Given the description of an element on the screen output the (x, y) to click on. 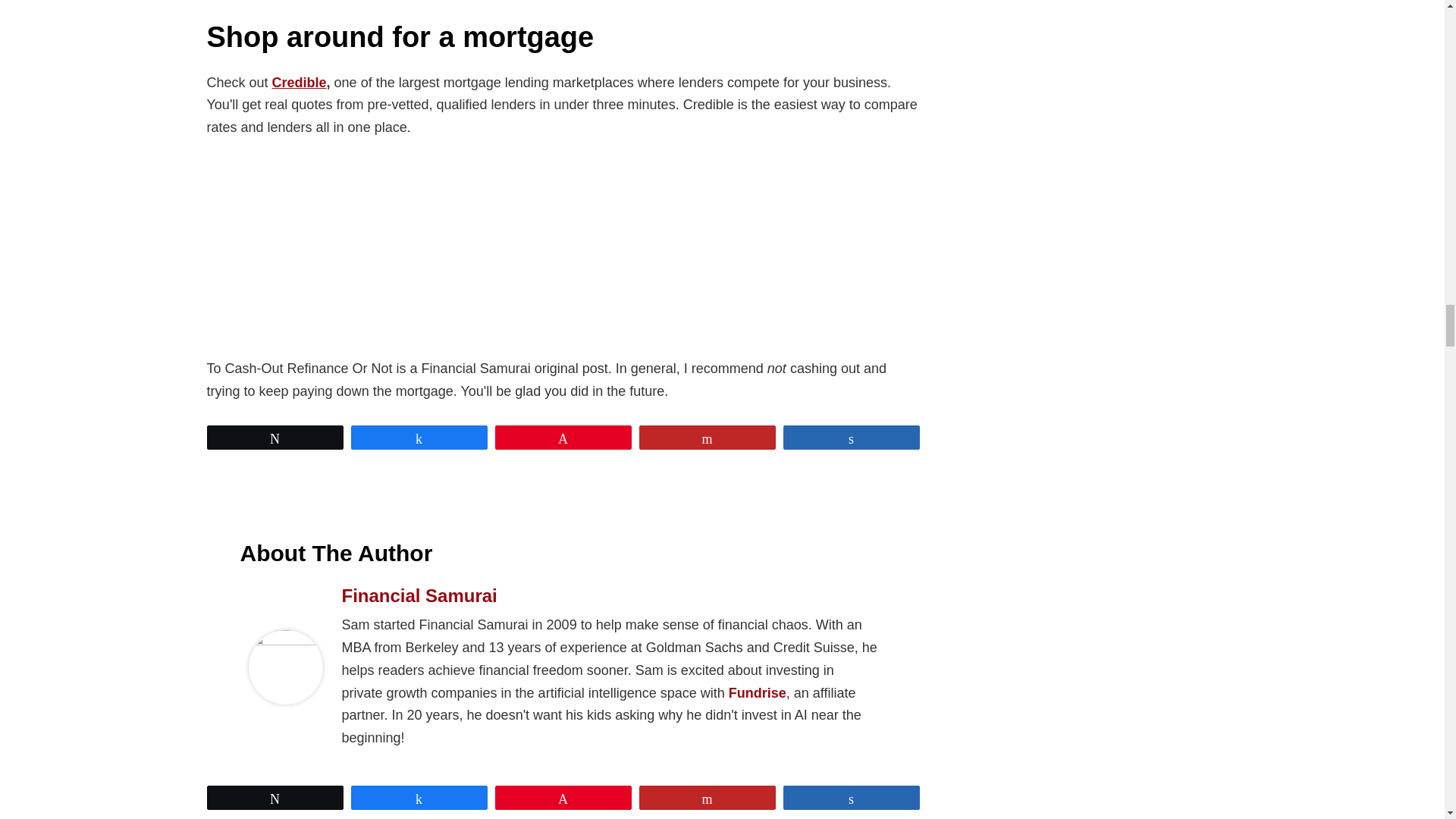
Credible (299, 82)
